Given the description of an element on the screen output the (x, y) to click on. 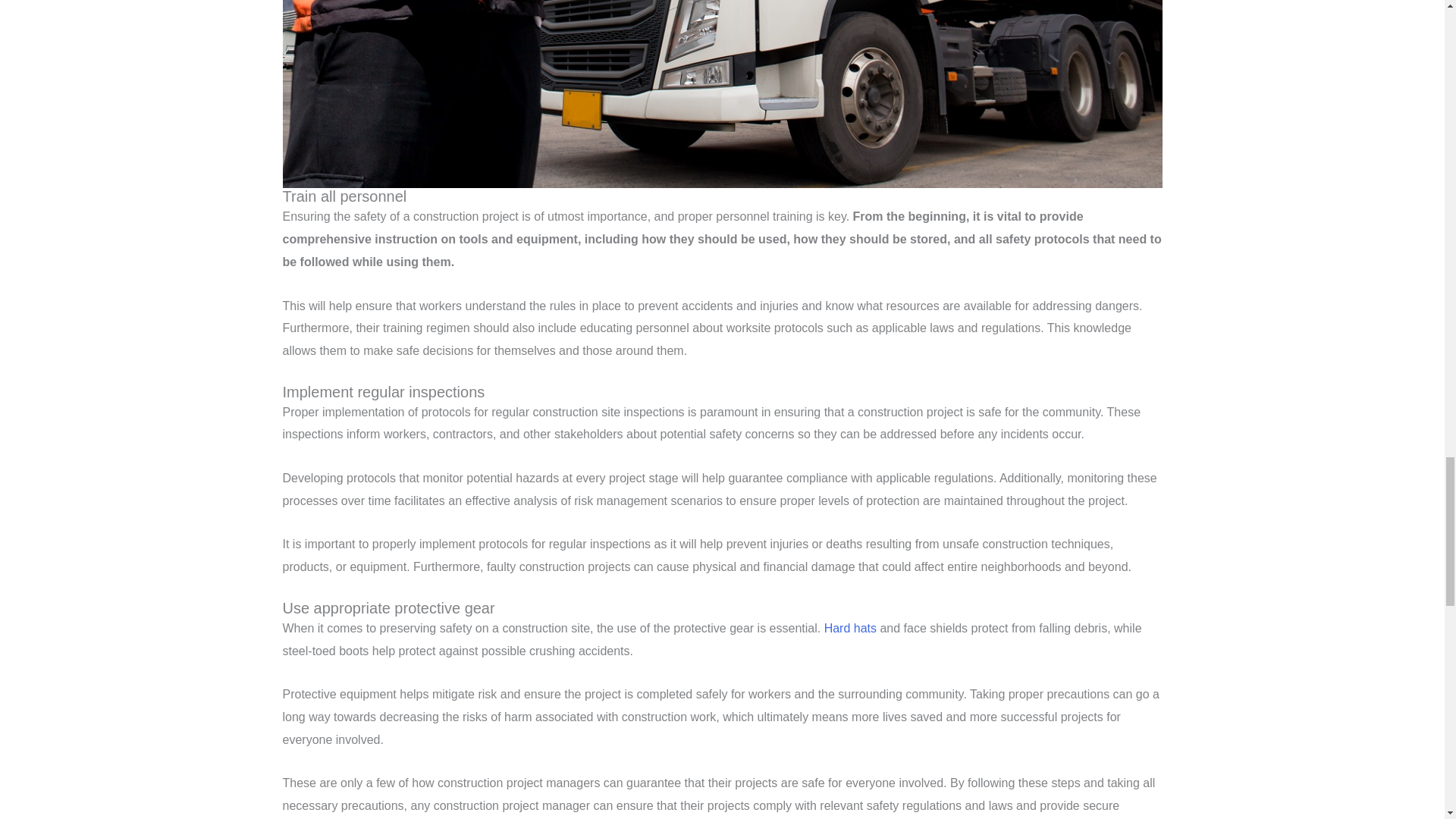
Hard hats (850, 627)
